Given the description of an element on the screen output the (x, y) to click on. 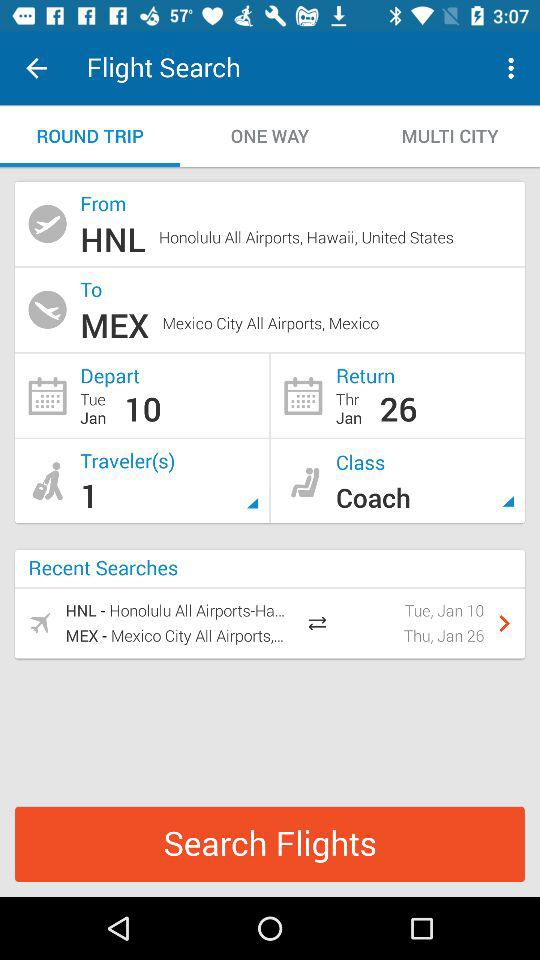
launch one way (270, 136)
